Given the description of an element on the screen output the (x, y) to click on. 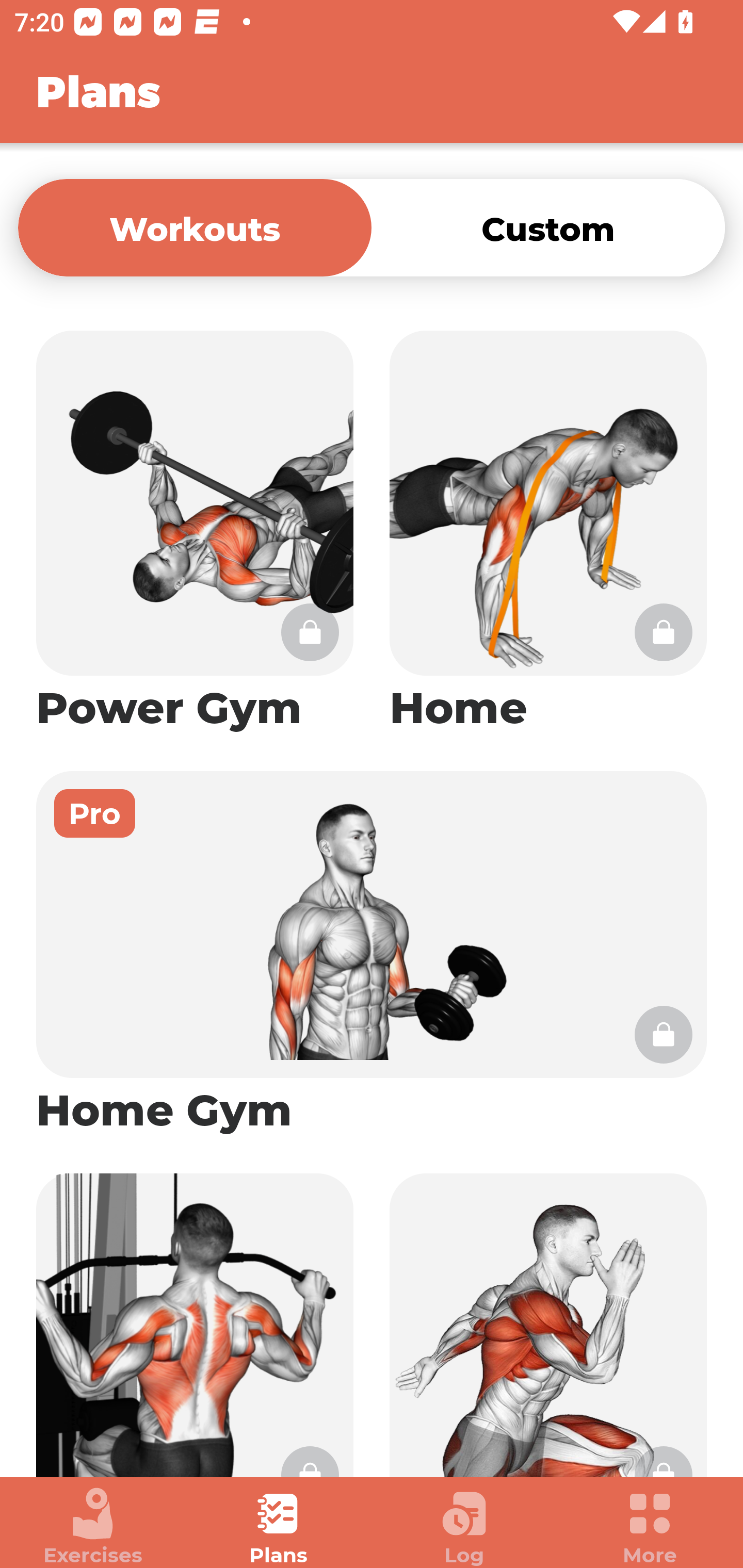
Workouts (194, 226)
Custom (548, 226)
Power Gym (194, 532)
Home (548, 532)
Pro Home Gym (371, 953)
Exercises (92, 1527)
Plans (278, 1527)
Log (464, 1527)
More (650, 1527)
